Given the description of an element on the screen output the (x, y) to click on. 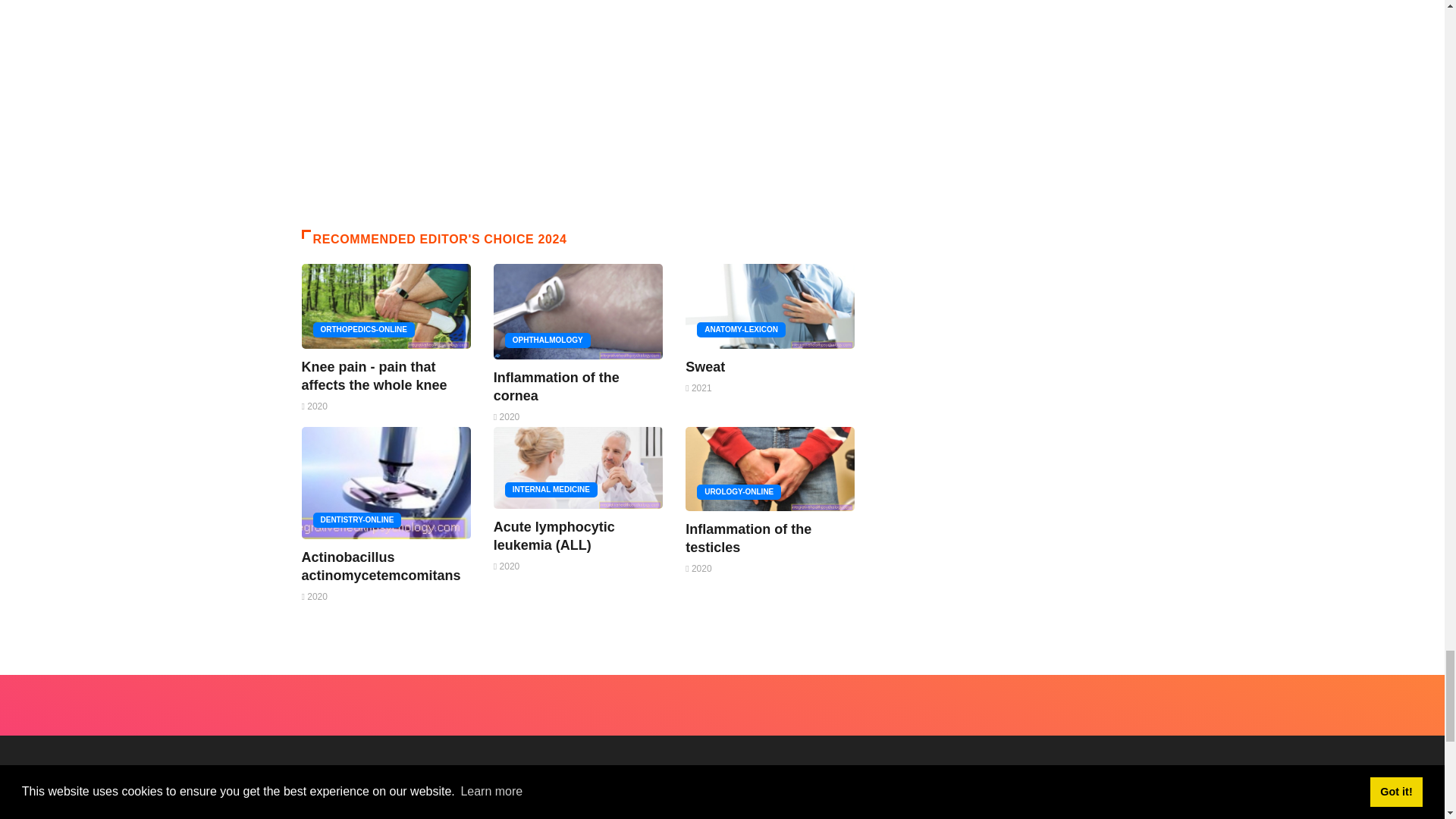
UROLOGY-ONLINE (738, 491)
Inflammation of the testicles (747, 538)
DENTISTRY-ONLINE (357, 519)
Inflammation of the cornea (556, 386)
Knee pain - pain that affects the whole knee (373, 376)
ORTHOPEDICS-ONLINE (363, 329)
INTERNAL MEDICINE (550, 489)
ANATOMY-LEXICON (741, 329)
Actinobacillus actinomycetemcomitans (381, 566)
Sweat (705, 366)
OPHTHALMOLOGY (548, 340)
